Given the description of an element on the screen output the (x, y) to click on. 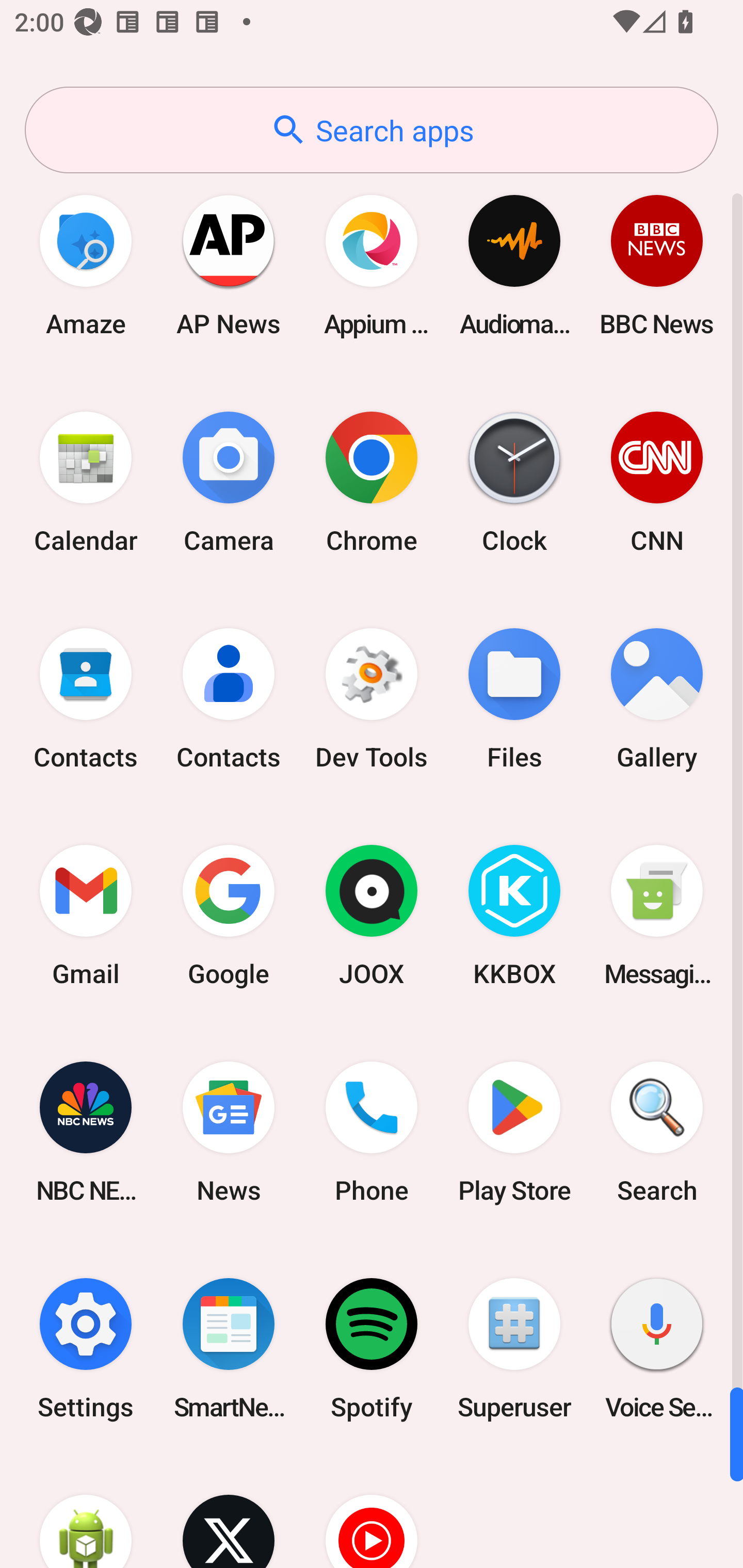
  Search apps (371, 130)
Amaze (85, 264)
AP News (228, 264)
Appium Settings (371, 264)
Audio­mack (514, 264)
BBC News (656, 264)
Calendar (85, 482)
Camera (228, 482)
Chrome (371, 482)
Clock (514, 482)
CNN (656, 482)
Contacts (85, 699)
Contacts (228, 699)
Dev Tools (371, 699)
Files (514, 699)
Gallery (656, 699)
Gmail (85, 915)
Google (228, 915)
JOOX (371, 915)
KKBOX (514, 915)
Messaging (656, 915)
NBC NEWS (85, 1131)
News (228, 1131)
Phone (371, 1131)
Play Store (514, 1131)
Search (656, 1131)
Settings (85, 1348)
SmartNews (228, 1348)
Spotify (371, 1348)
Superuser (514, 1348)
Voice Search (656, 1348)
WebView Browser Tester (85, 1512)
X (228, 1512)
YT Music (371, 1512)
